Given the description of an element on the screen output the (x, y) to click on. 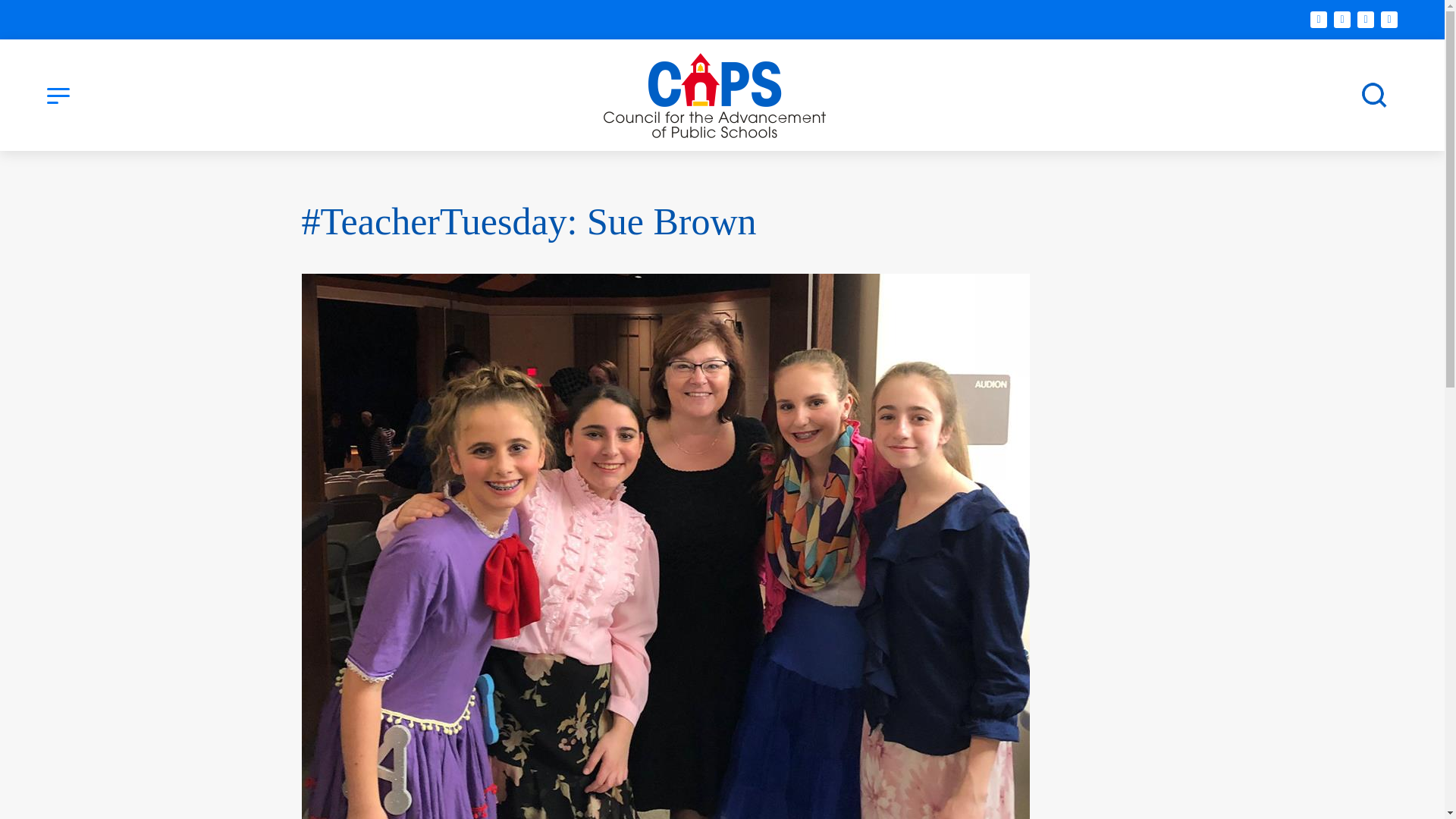
Go (1373, 94)
Go (1373, 94)
Go (1373, 94)
